Given the description of an element on the screen output the (x, y) to click on. 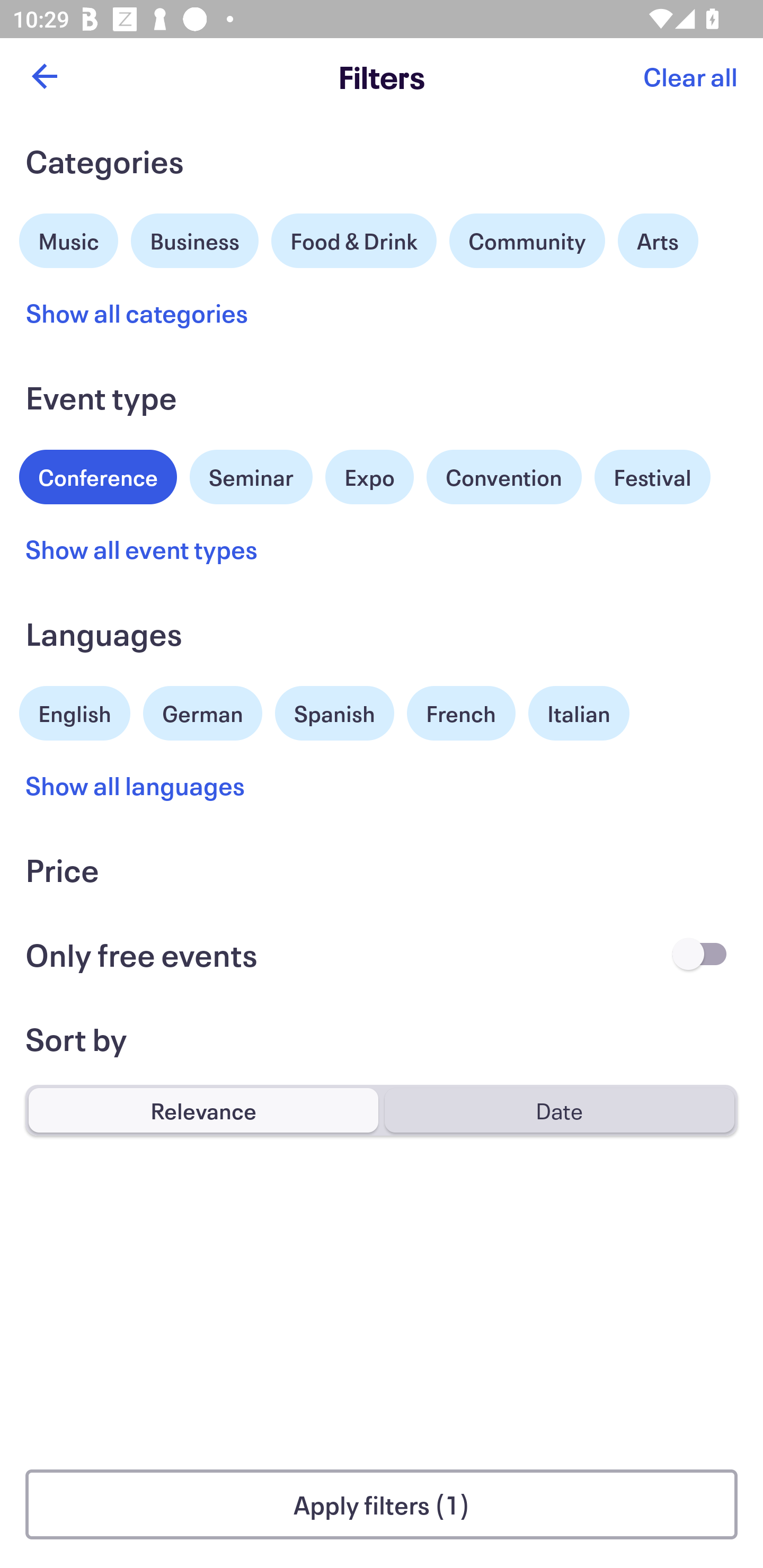
Back button (44, 75)
Clear all (690, 75)
Music (68, 238)
Business (194, 238)
Food & Drink (353, 240)
Community (527, 240)
Arts (658, 240)
Show all categories (136, 312)
Conference (98, 475)
Seminar (250, 477)
Expo (369, 477)
Convention (503, 477)
Festival (652, 477)
Show all event types (141, 548)
English (74, 710)
German (202, 710)
Spanish (334, 713)
French (460, 713)
Italian (578, 713)
Show all languages (135, 784)
Relevance (203, 1109)
Date (559, 1109)
Apply filters (1) (381, 1504)
